Given the description of an element on the screen output the (x, y) to click on. 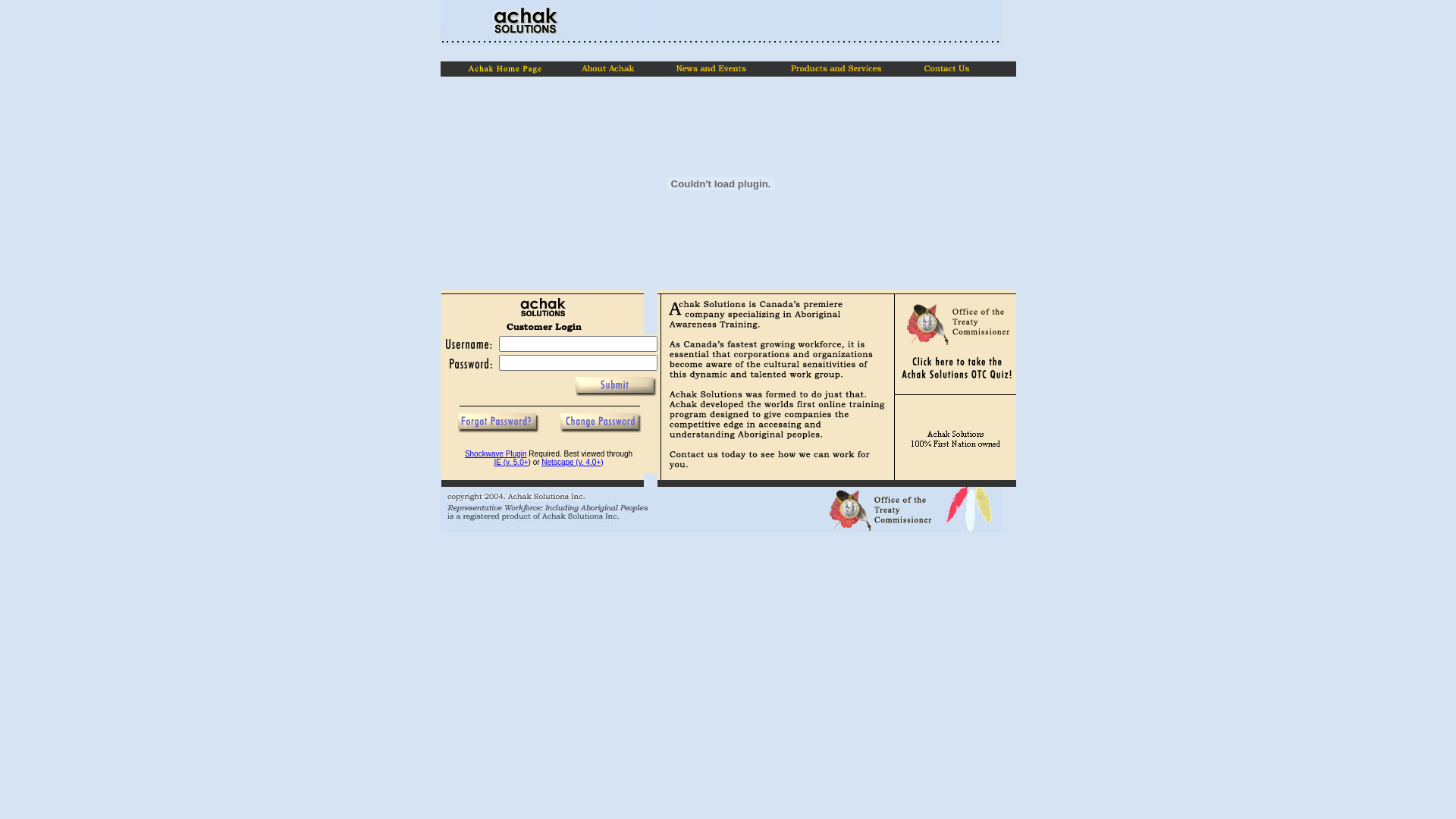
Netscape (v. 4.0+) Element type: text (571, 462)
IE (v. 5.0+ Element type: text (510, 462)
Shockwave Plugin Element type: text (495, 453)
